Given the description of an element on the screen output the (x, y) to click on. 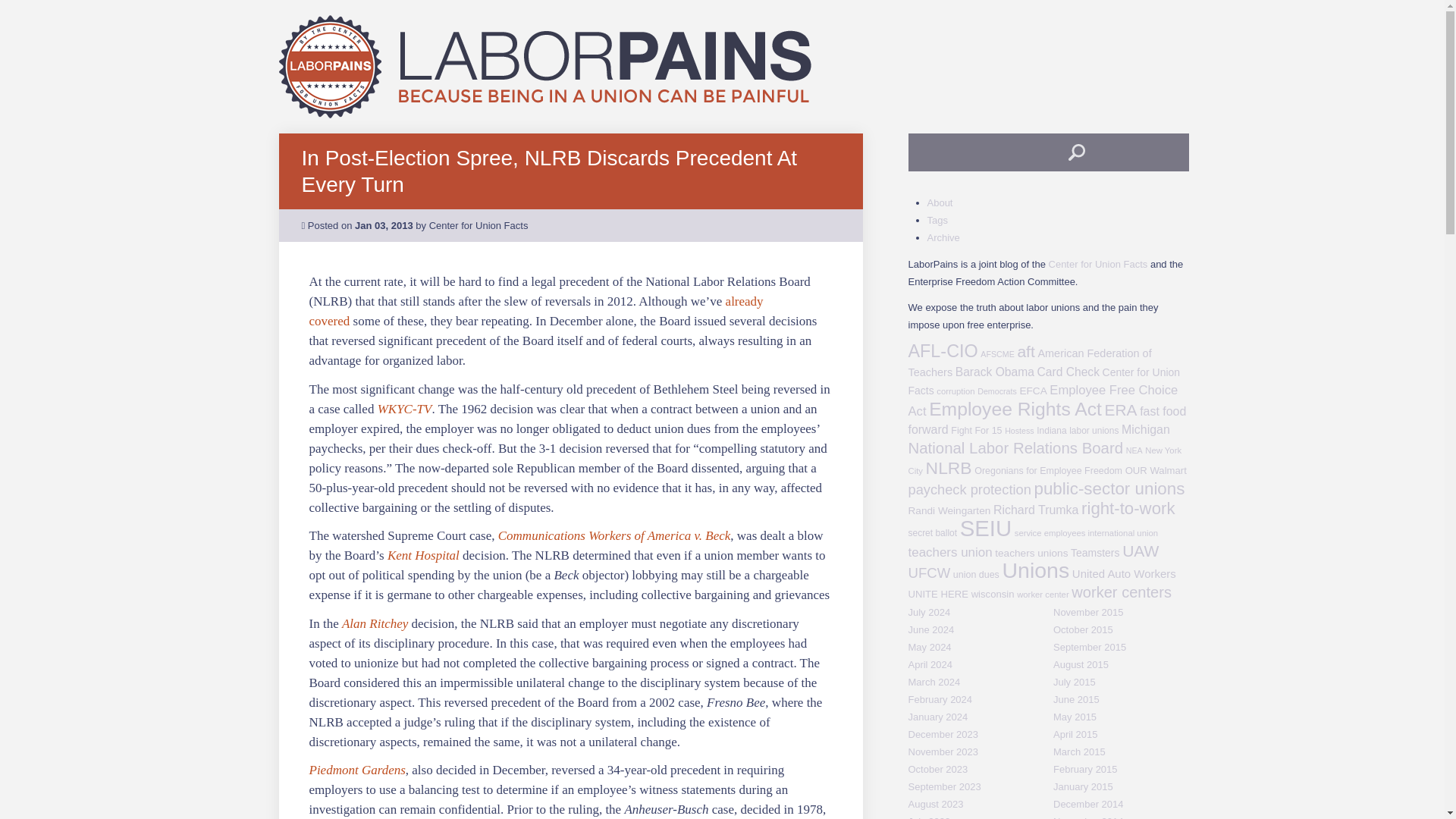
aft (1024, 351)
already covered (535, 311)
Employee Rights Act (1015, 408)
Tags (936, 220)
Communications Workers of America v. Beck (613, 535)
corruption (955, 390)
Card Check (1067, 371)
Employee Free Choice Act (1042, 399)
Kent Hospital (423, 554)
